Given the description of an element on the screen output the (x, y) to click on. 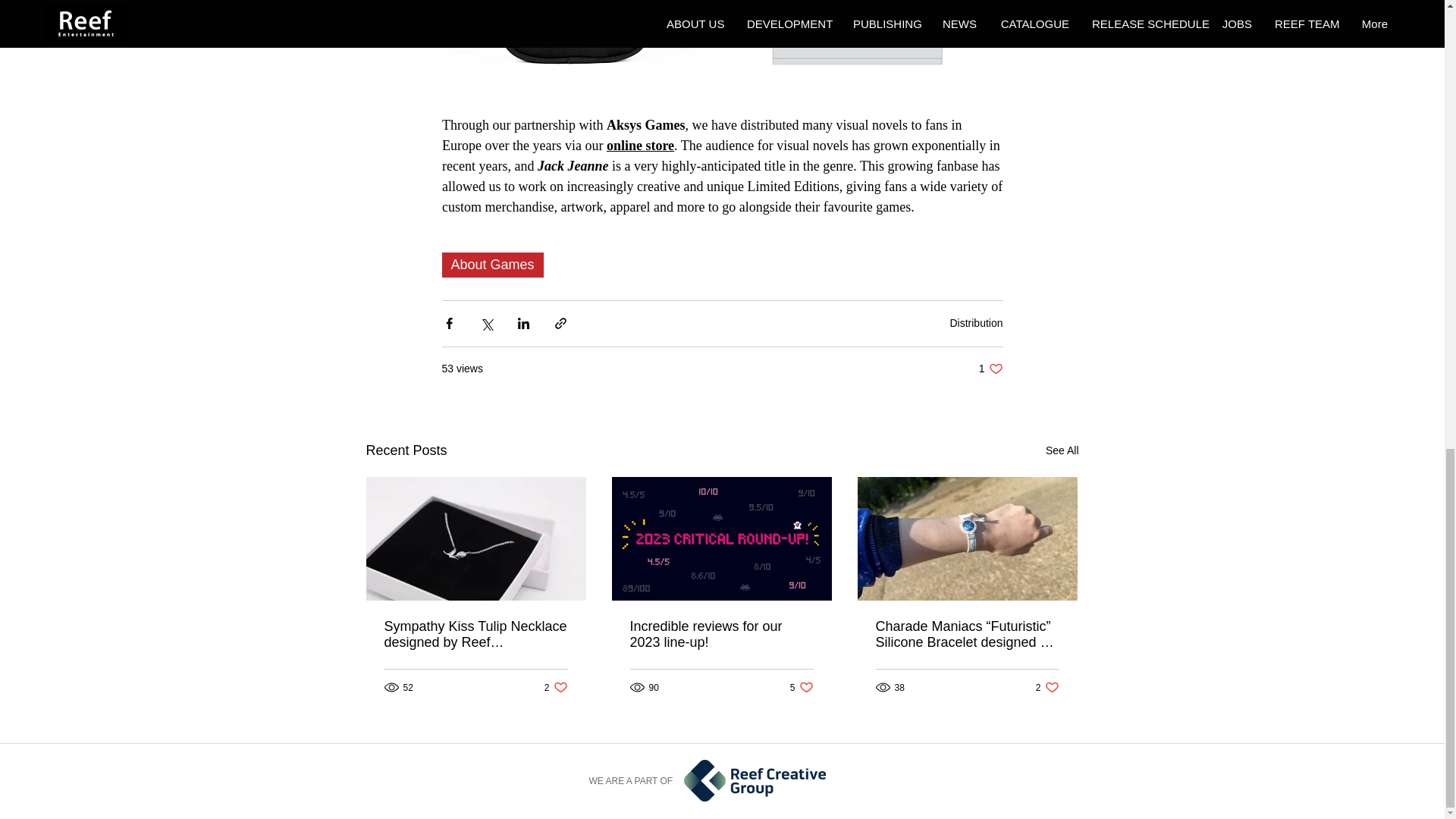
See All (1061, 450)
Incredible reviews for our 2023 line-up! (720, 634)
online store (801, 687)
Distribution (638, 145)
About Games (976, 322)
Sympathy Kiss Tulip Necklace designed by Reef Entertainment! (555, 687)
